Given the description of an element on the screen output the (x, y) to click on. 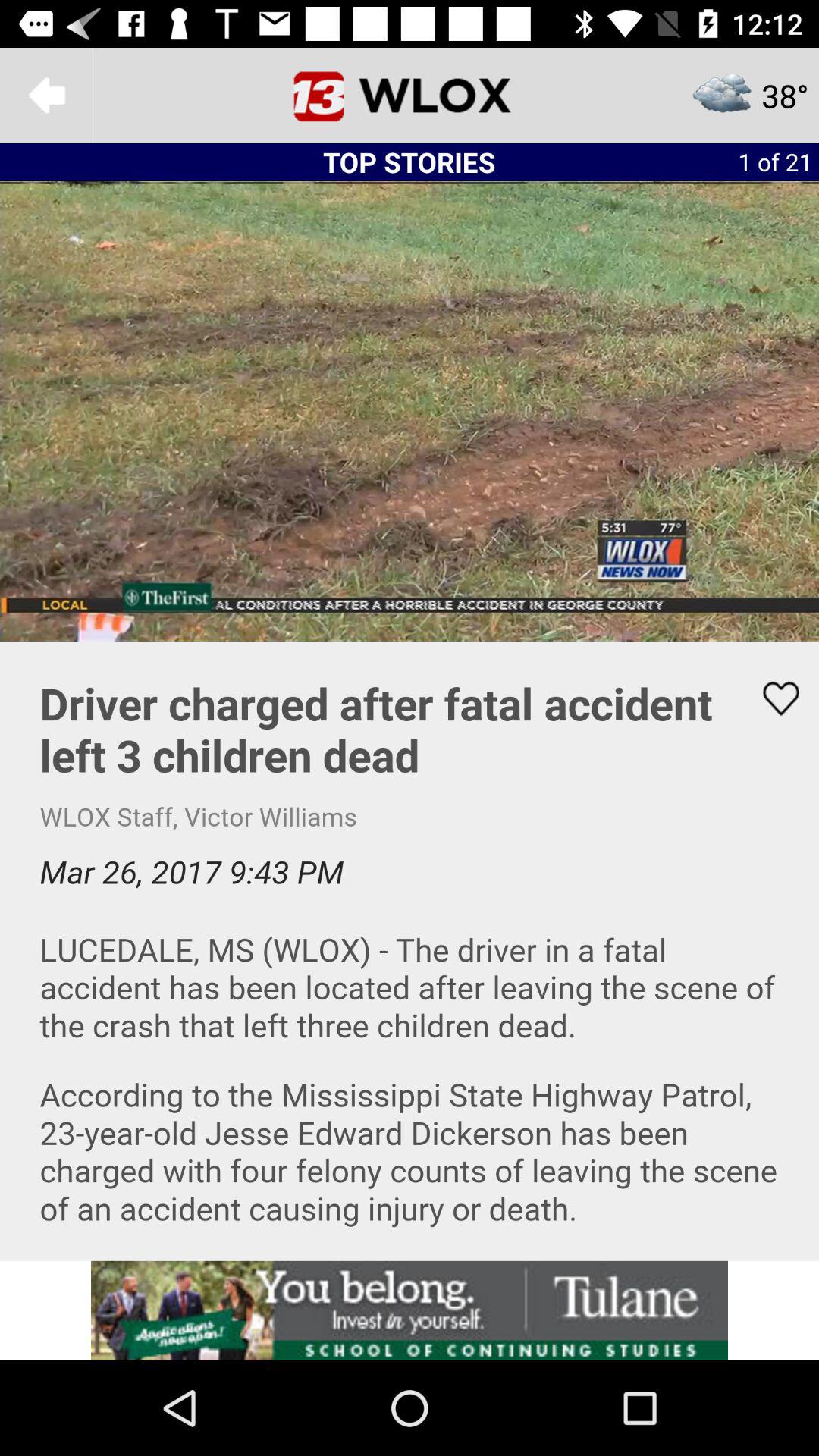
advertisement (409, 1310)
